Given the description of an element on the screen output the (x, y) to click on. 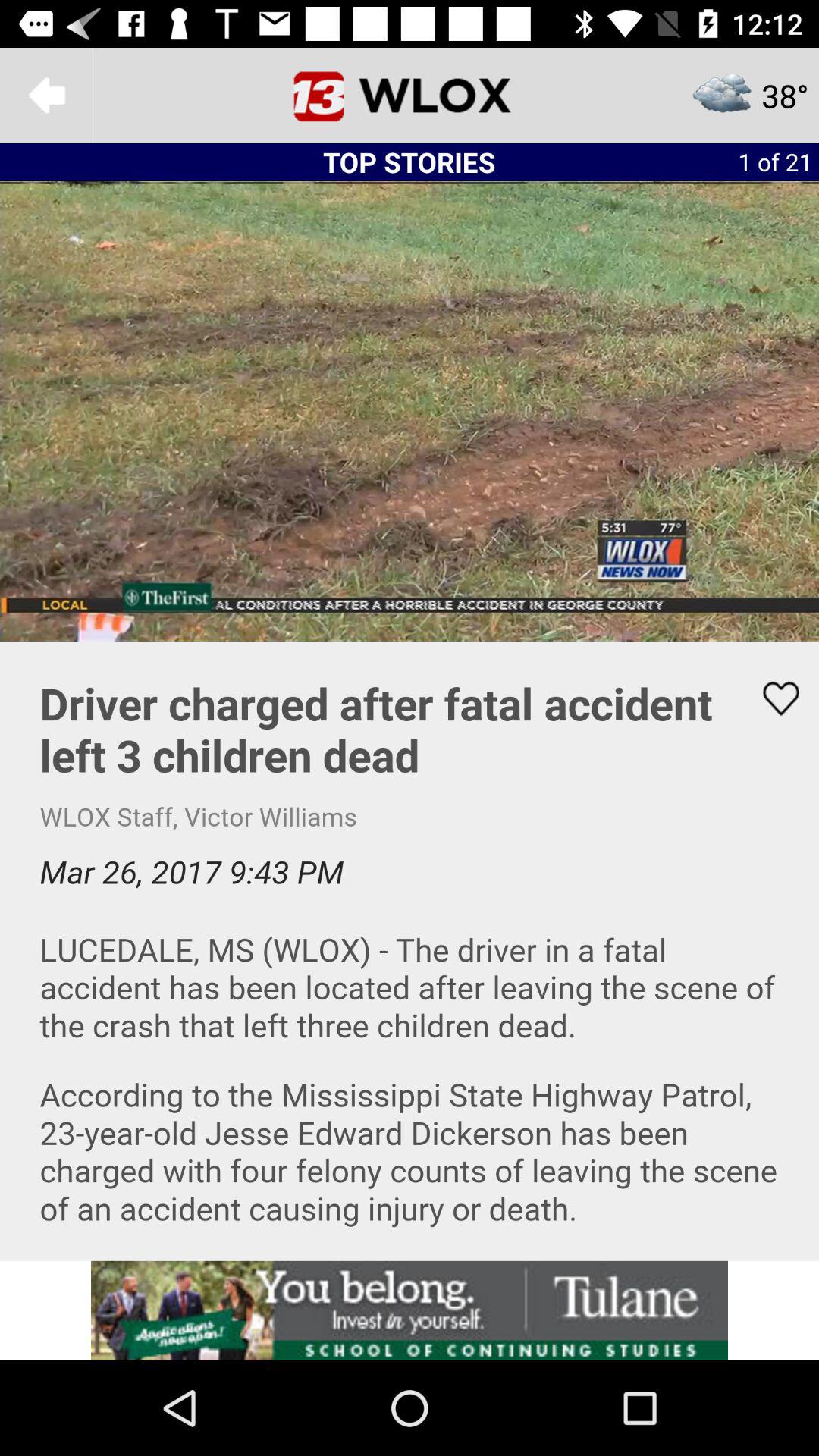
advertisement (409, 1310)
